Given the description of an element on the screen output the (x, y) to click on. 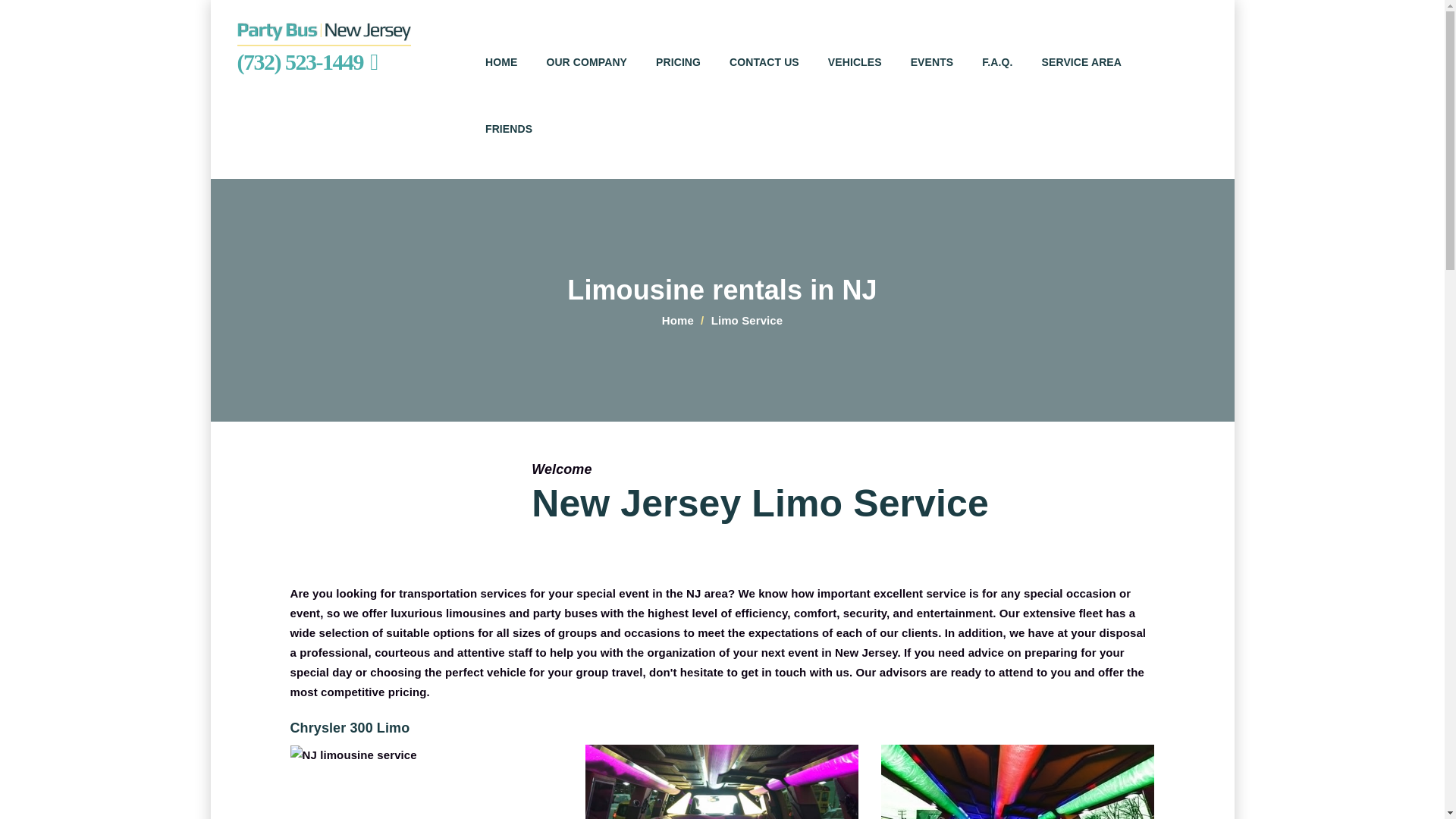
SERVICE AREA (1088, 78)
CONTACT US (770, 78)
VEHICLES (861, 78)
OUR COMPANY (593, 78)
FRIENDS (515, 145)
Home (678, 319)
